Given the description of an element on the screen output the (x, y) to click on. 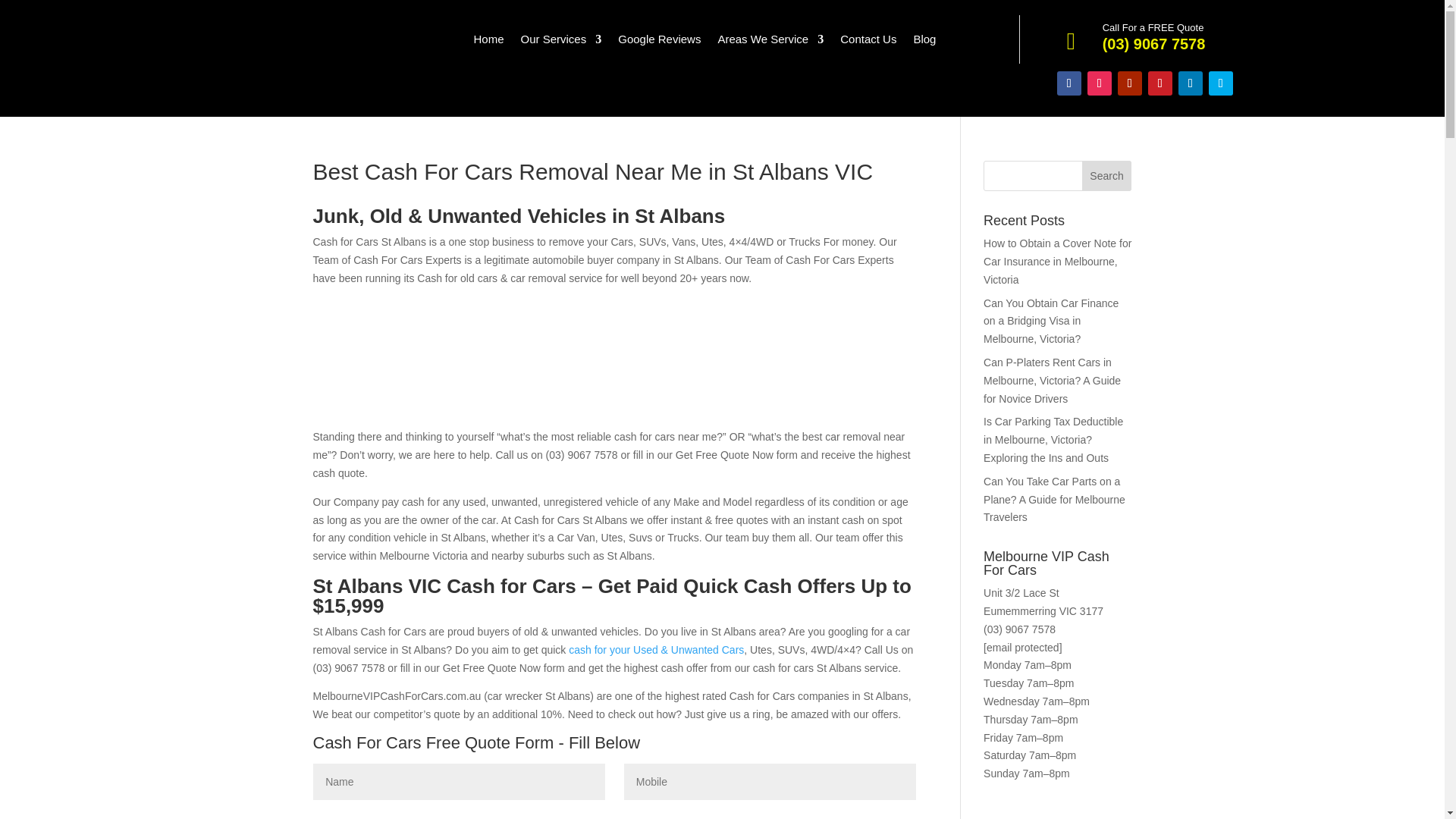
Our Services (561, 42)
Follow on X (1220, 83)
Blog (924, 42)
Home (488, 42)
Follow on Pinterest (1160, 83)
Follow on Facebook (1069, 83)
Search (1106, 175)
Follow on LinkedIn (1189, 83)
Contact Us (868, 42)
Cash For Cars Removal St Albans (426, 355)
